Given the description of an element on the screen output the (x, y) to click on. 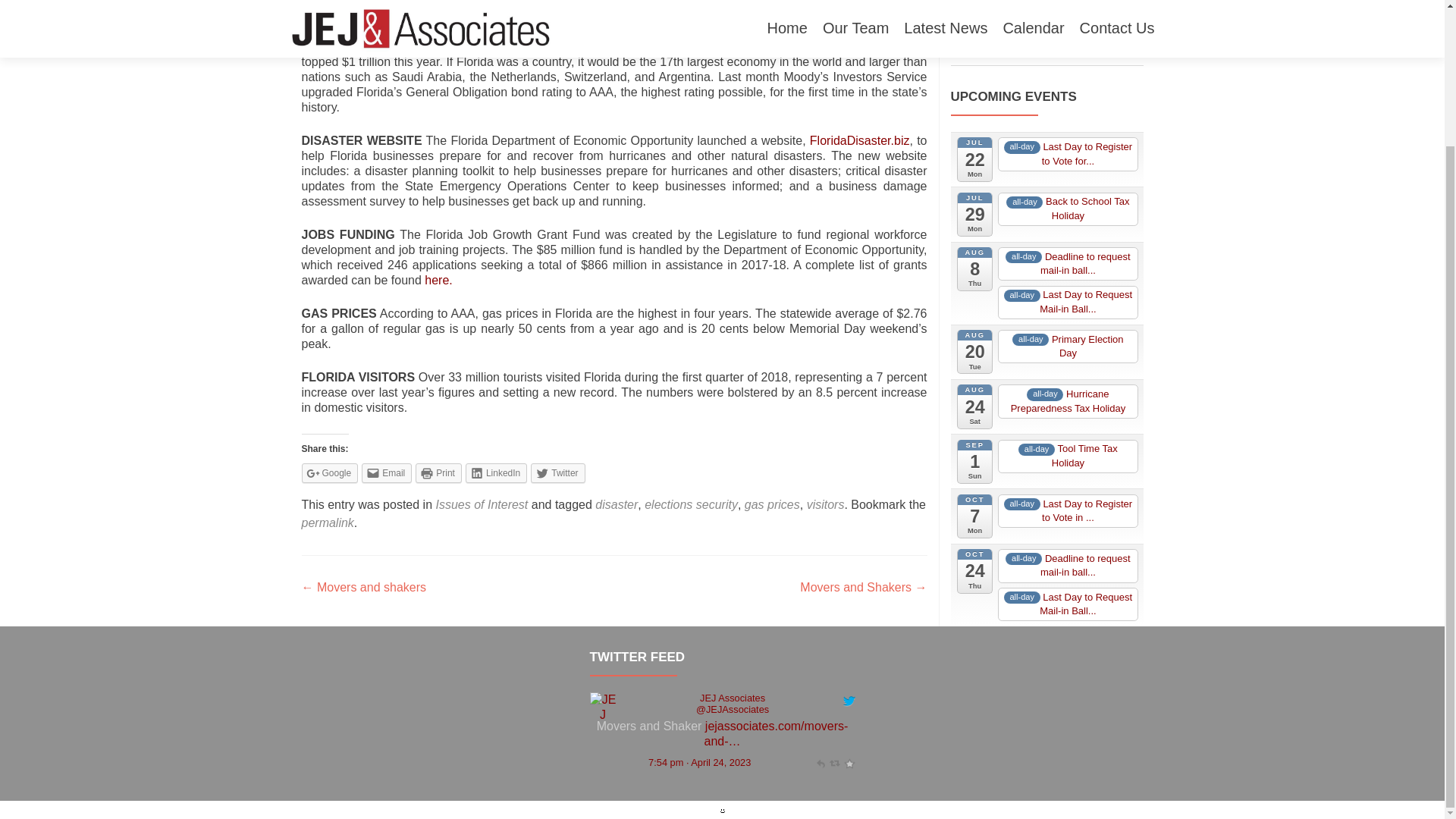
Click to email this to a friend (386, 473)
Print (437, 473)
Click to print (437, 473)
Click to share on LinkedIn (496, 473)
permalink (327, 522)
gas prices (771, 504)
here. (438, 279)
reply (1107, 41)
LinkedIn (496, 473)
Google (329, 473)
Click to share on Twitter (558, 473)
FloridaDisaster.biz (859, 140)
Email (386, 473)
disaster (616, 504)
Twitter (558, 473)
